Given the description of an element on the screen output the (x, y) to click on. 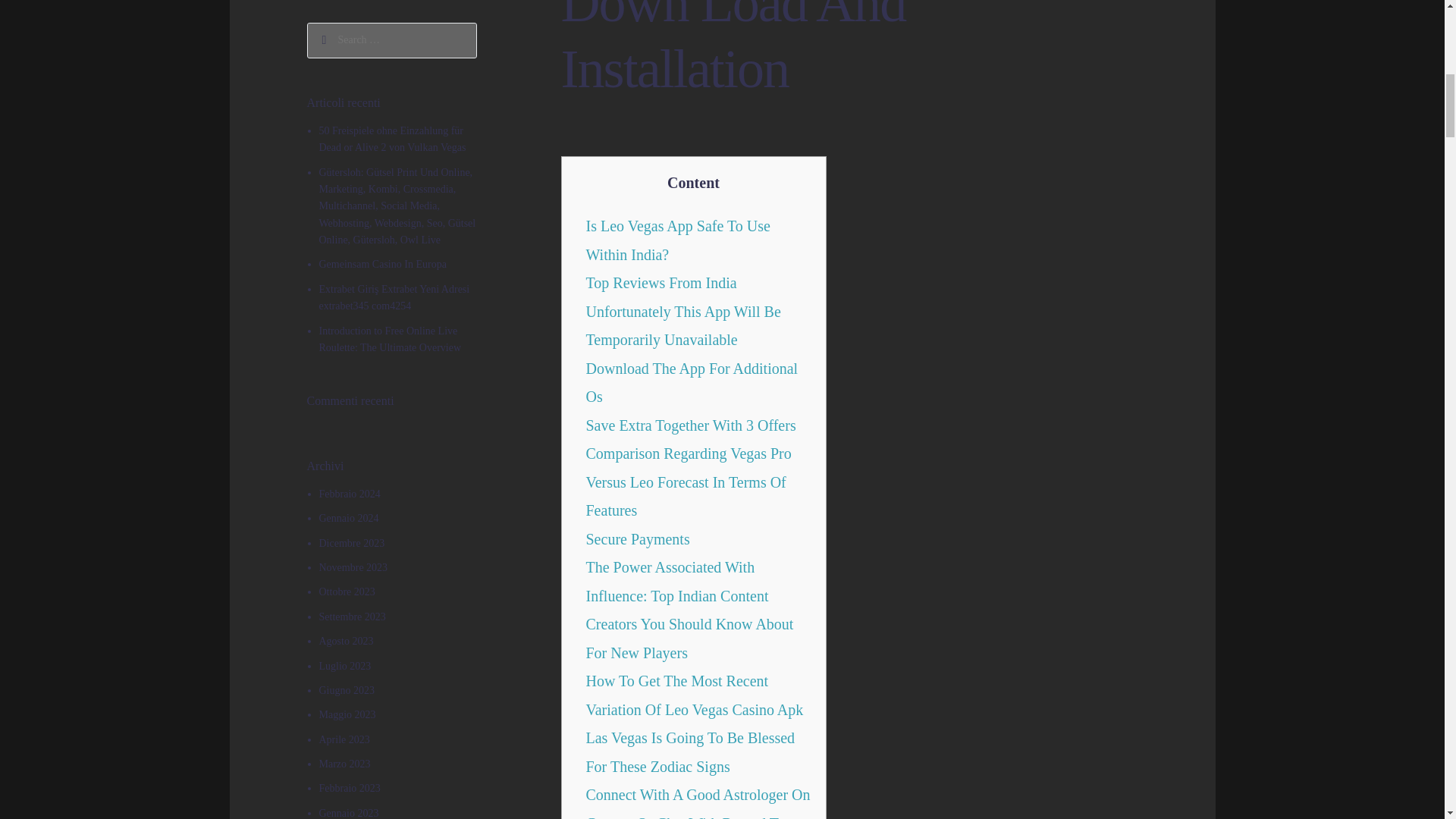
Unfortunately This App Will Be Temporarily Unavailable (682, 325)
Is Leo Vegas App Safe To Use Within India? (677, 239)
Las Vegas Is Going To Be Blessed For These Zodiac Signs (689, 751)
How To Get The Most Recent Variation Of Leo Vegas Casino Apk (694, 695)
Download The App For Additional Os (691, 382)
Secure Payments (636, 538)
Top Reviews From India (660, 282)
